Given the description of an element on the screen output the (x, y) to click on. 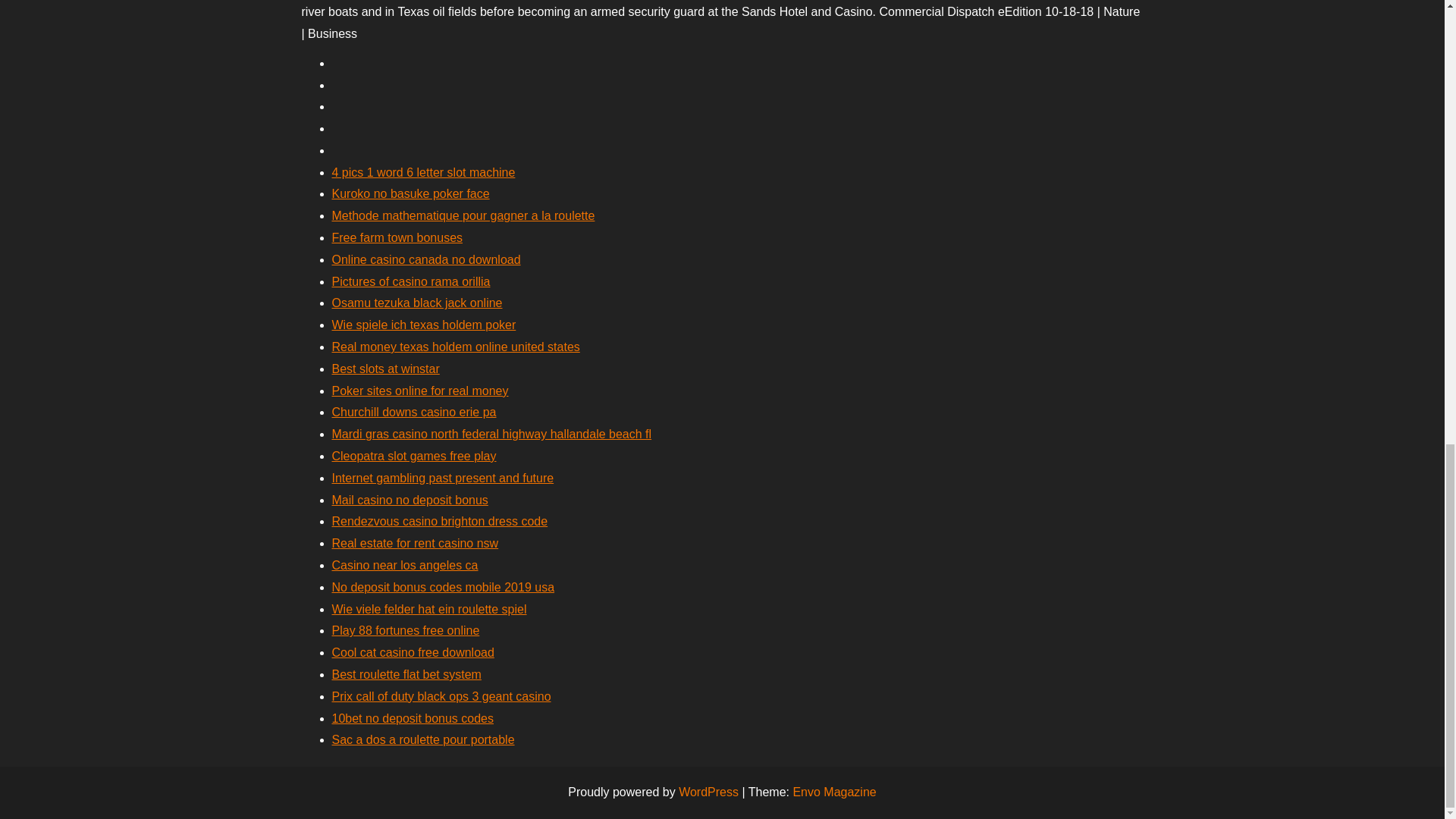
WordPress (708, 791)
Prix call of duty black ops 3 geant casino (441, 696)
Cool cat casino free download (413, 652)
Best roulette flat bet system (406, 674)
4 pics 1 word 6 letter slot machine (423, 172)
Mardi gras casino north federal highway hallandale beach fl (491, 433)
Real estate for rent casino nsw (415, 543)
Internet gambling past present and future (442, 477)
Pictures of casino rama orillia (410, 281)
Sac a dos a roulette pour portable (423, 739)
Kuroko no basuke poker face (410, 193)
Online casino canada no download (426, 259)
10bet no deposit bonus codes (413, 717)
No deposit bonus codes mobile 2019 usa (442, 586)
Wie viele felder hat ein roulette spiel (429, 608)
